Given the description of an element on the screen output the (x, y) to click on. 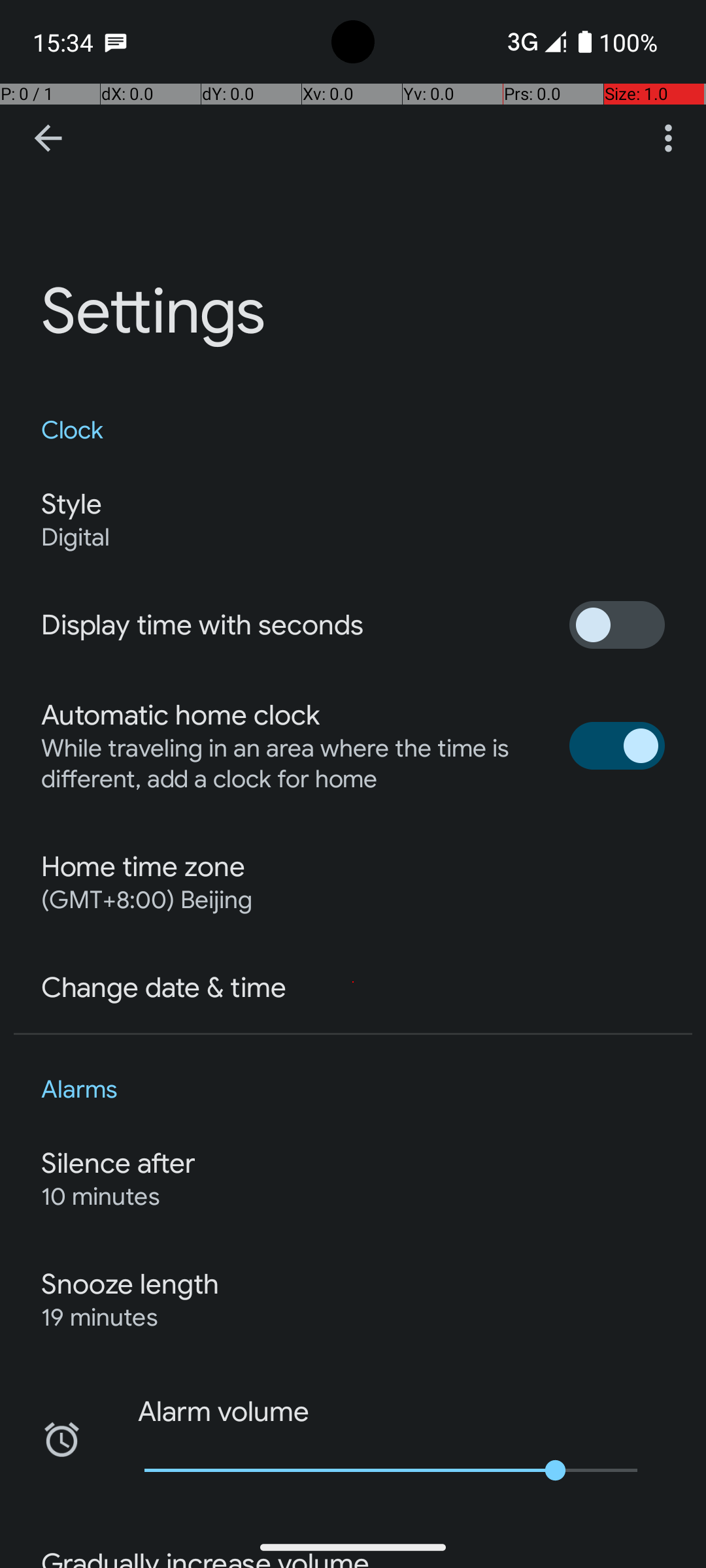
Style Element type: android.widget.TextView (71, 504)
Digital Element type: android.widget.TextView (75, 537)
Display time with seconds Element type: android.widget.TextView (202, 624)
Automatic home clock Element type: android.widget.TextView (180, 715)
While traveling in an area where the time is different, add a clock for home Element type: android.widget.TextView (291, 763)
Home time zone Element type: android.widget.TextView (143, 866)
(GMT+8:00) Beijing Element type: android.widget.TextView (146, 899)
Change date & time Element type: android.widget.TextView (163, 987)
Alarms Element type: android.widget.TextView (352, 1089)
Silence after Element type: android.widget.TextView (118, 1163)
10 minutes Element type: android.widget.TextView (100, 1196)
Snooze length Element type: android.widget.TextView (129, 1284)
19 minutes Element type: android.widget.TextView (99, 1317)
Alarm volume Element type: android.widget.TextView (213, 1411)
Gradually increase volume Element type: android.widget.TextView (205, 1557)
